Given the description of an element on the screen output the (x, y) to click on. 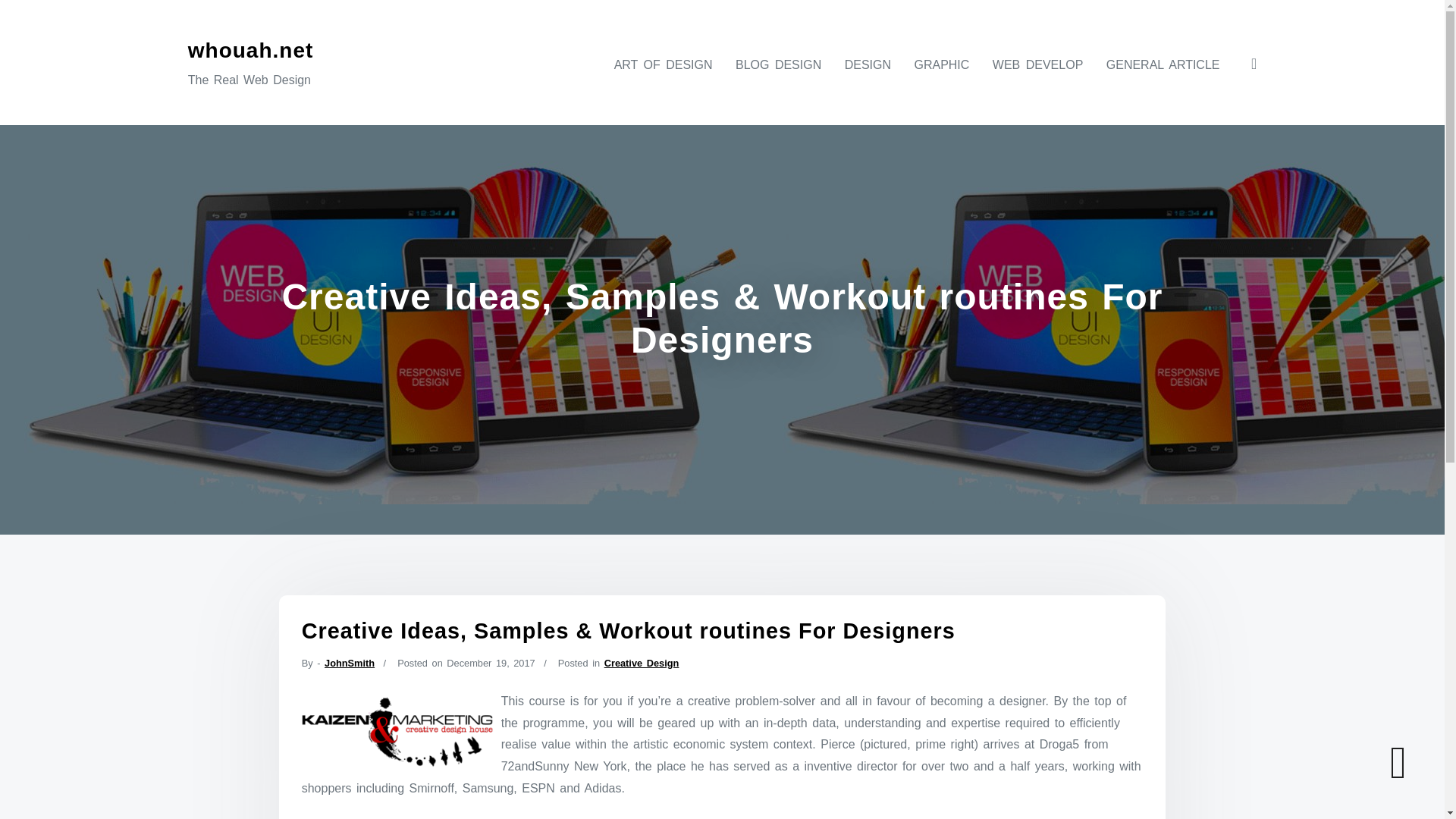
ART OF DESIGN (663, 64)
BLOG DESIGN (777, 64)
JohnSmith (349, 663)
whouah.net (250, 50)
DESIGN (867, 64)
GENERAL ARTICLE (1162, 64)
Creative Design (641, 663)
WEB DEVELOP (1038, 64)
GRAPHIC (941, 64)
